Given the description of an element on the screen output the (x, y) to click on. 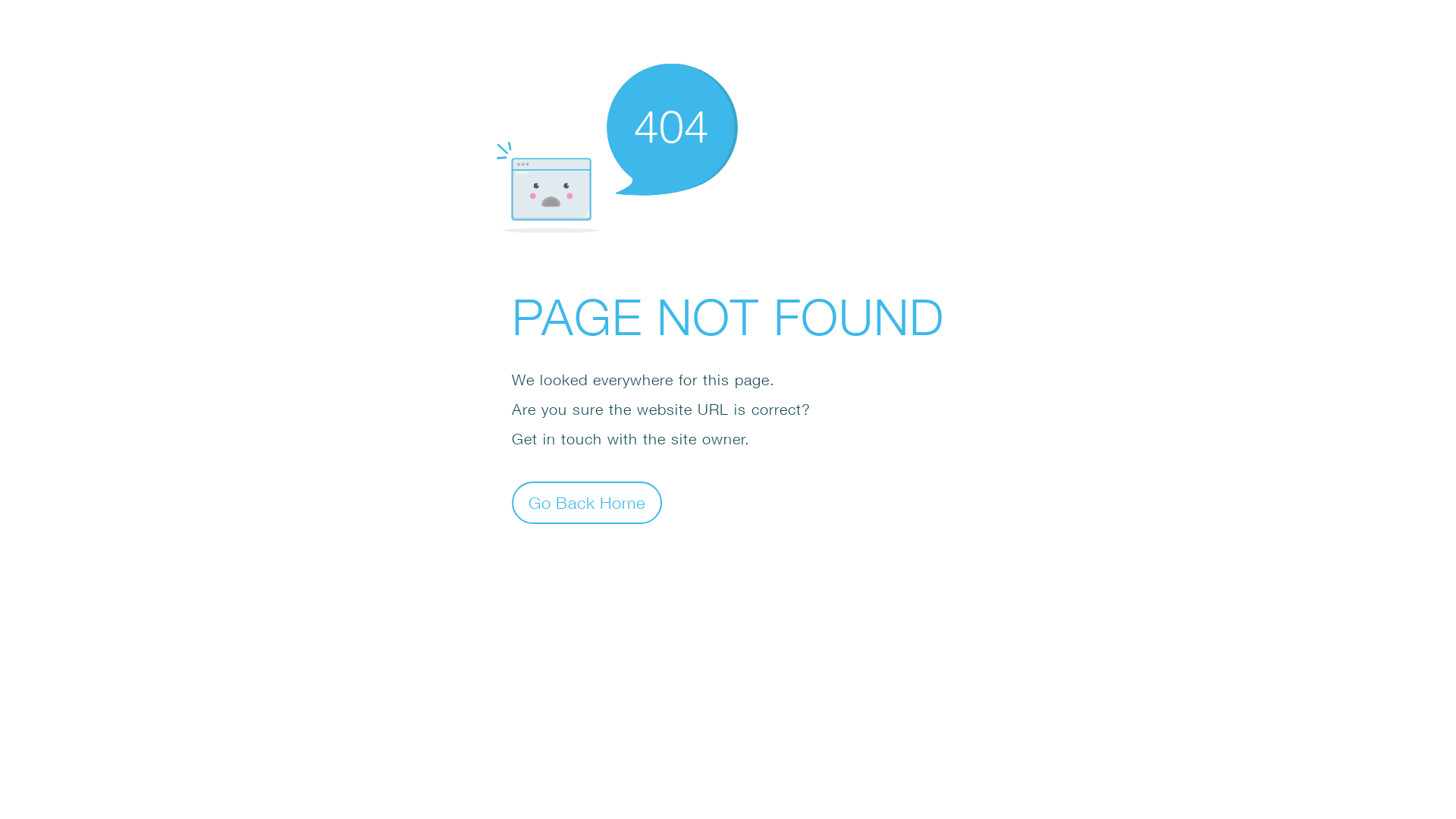
Go Back Home Element type: text (586, 502)
